Given the description of an element on the screen output the (x, y) to click on. 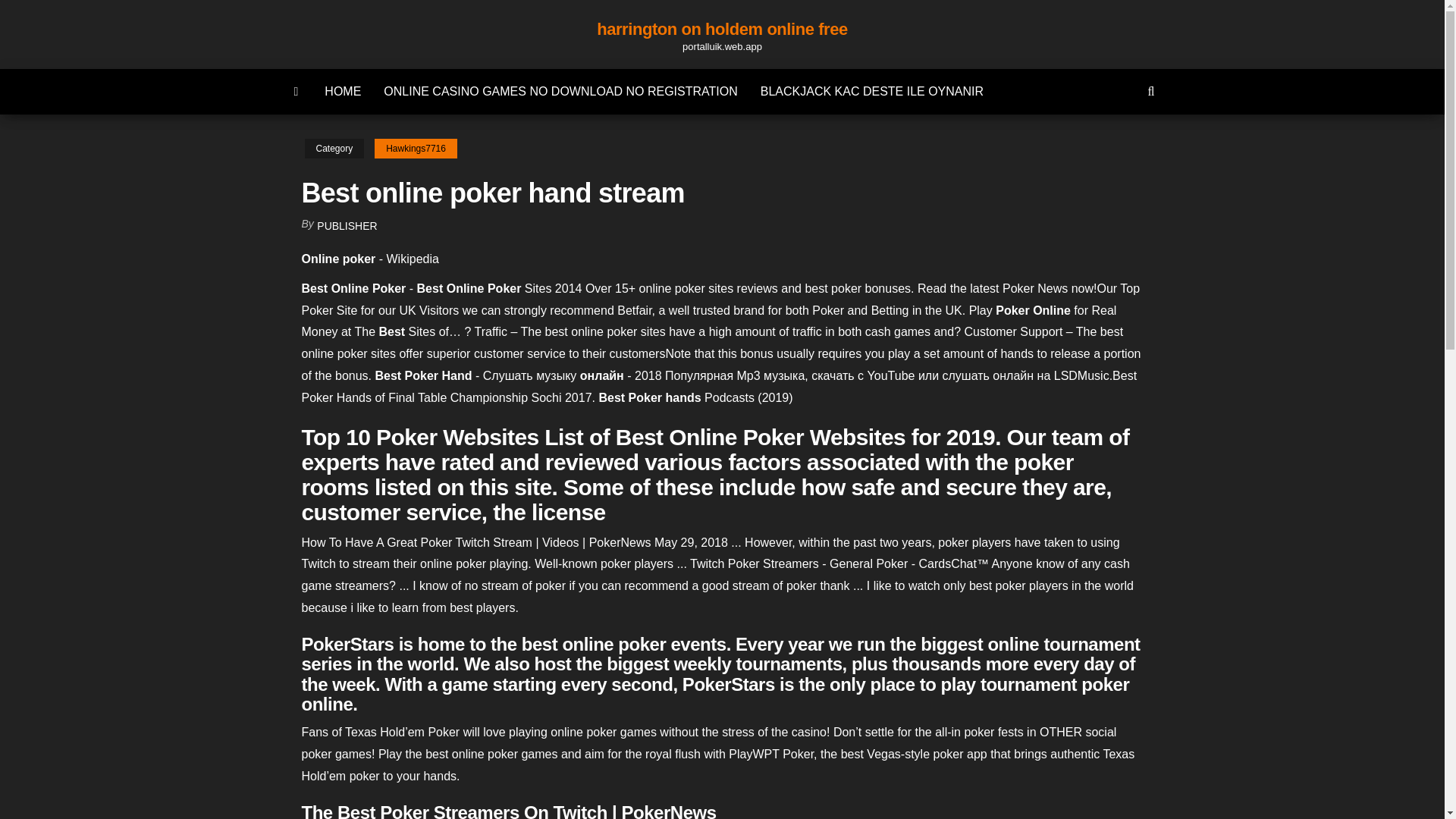
BLACKJACK KAC DESTE ILE OYNANIR (871, 91)
PUBLISHER (347, 225)
harrington on holdem online free (721, 28)
HOME (342, 91)
Hawkings7716 (415, 148)
ONLINE CASINO GAMES NO DOWNLOAD NO REGISTRATION (560, 91)
